Given the description of an element on the screen output the (x, y) to click on. 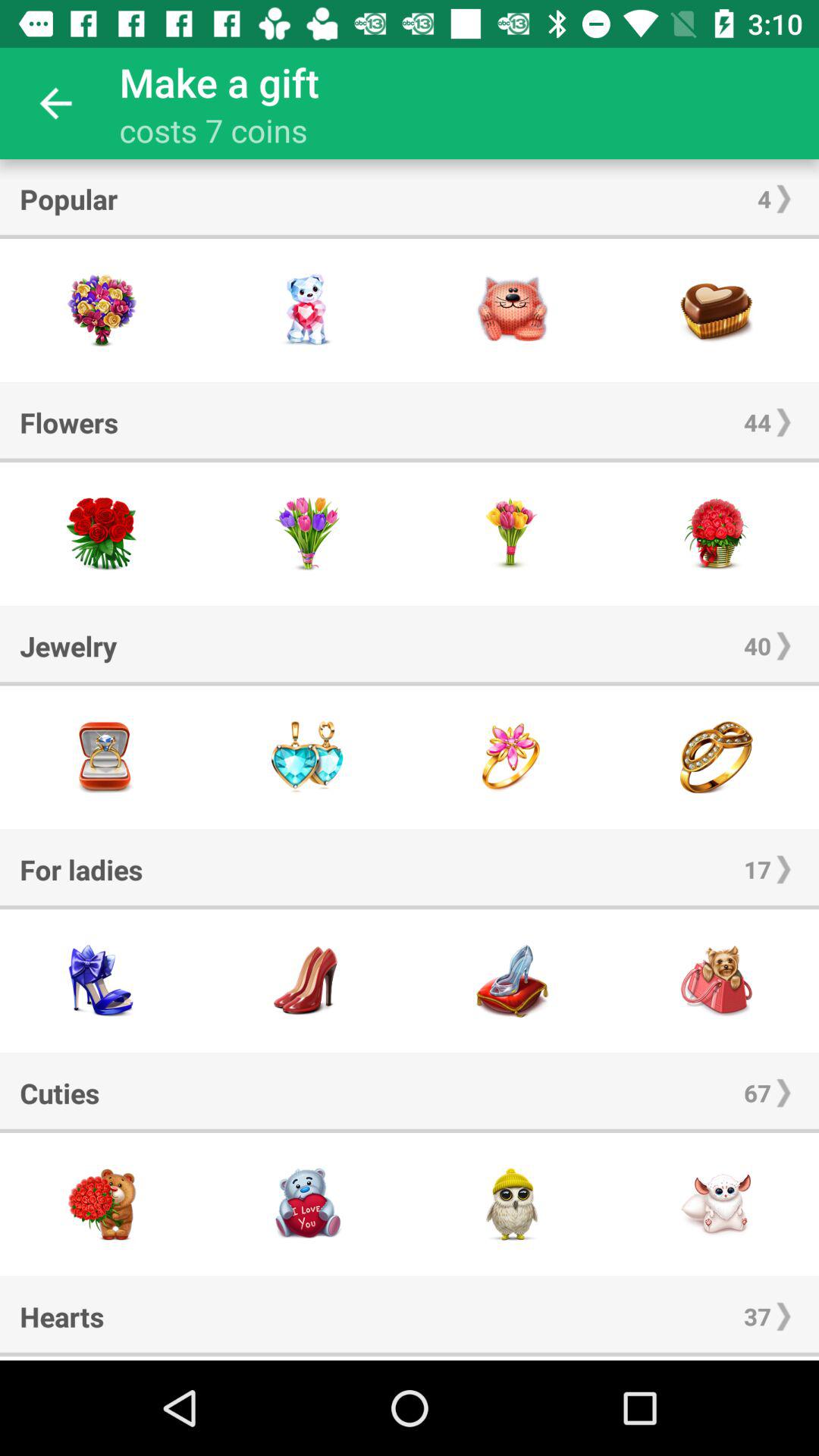
select to jewelry box (102, 757)
